Given the description of an element on the screen output the (x, y) to click on. 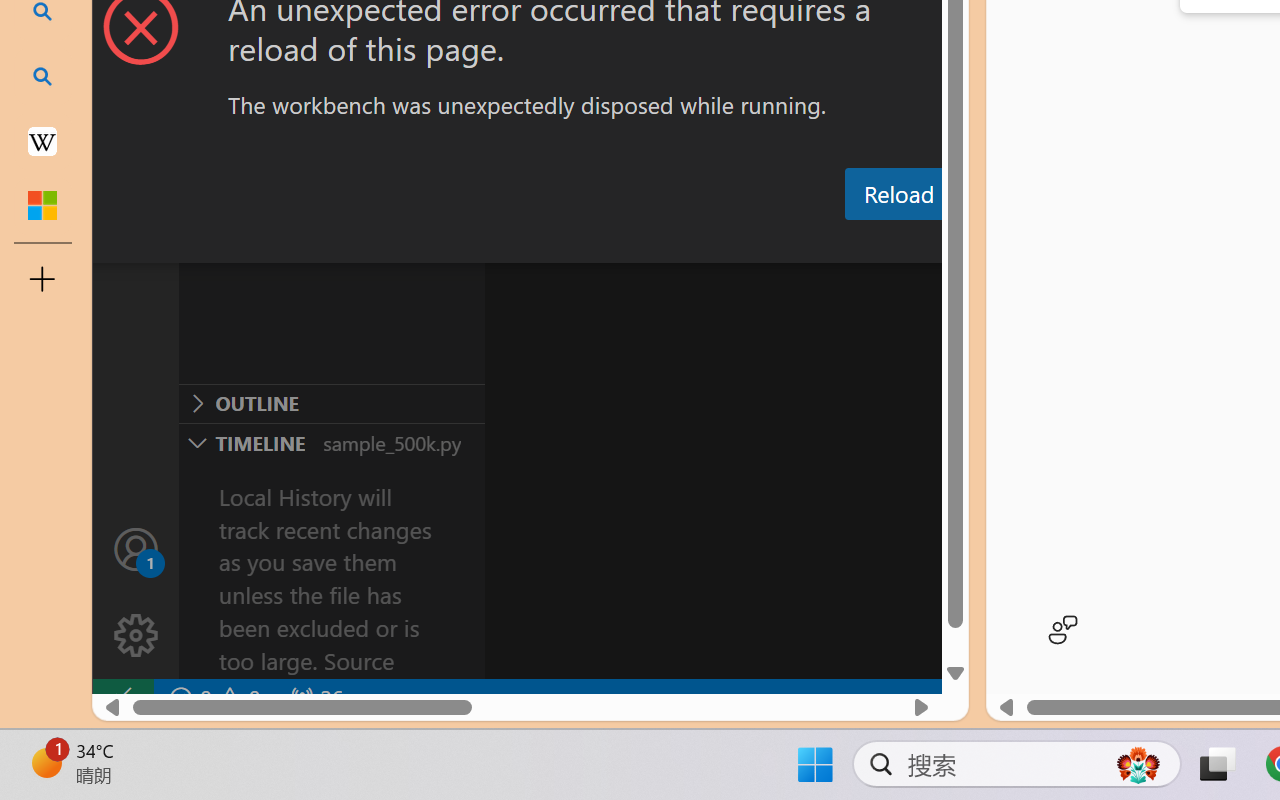
Terminal (Ctrl+`) (1021, 243)
Manage (135, 591)
Timeline Section (331, 442)
Debug Console (Ctrl+Shift+Y) (854, 243)
Manage (135, 635)
remote (122, 698)
Outline Section (331, 403)
